Given the description of an element on the screen output the (x, y) to click on. 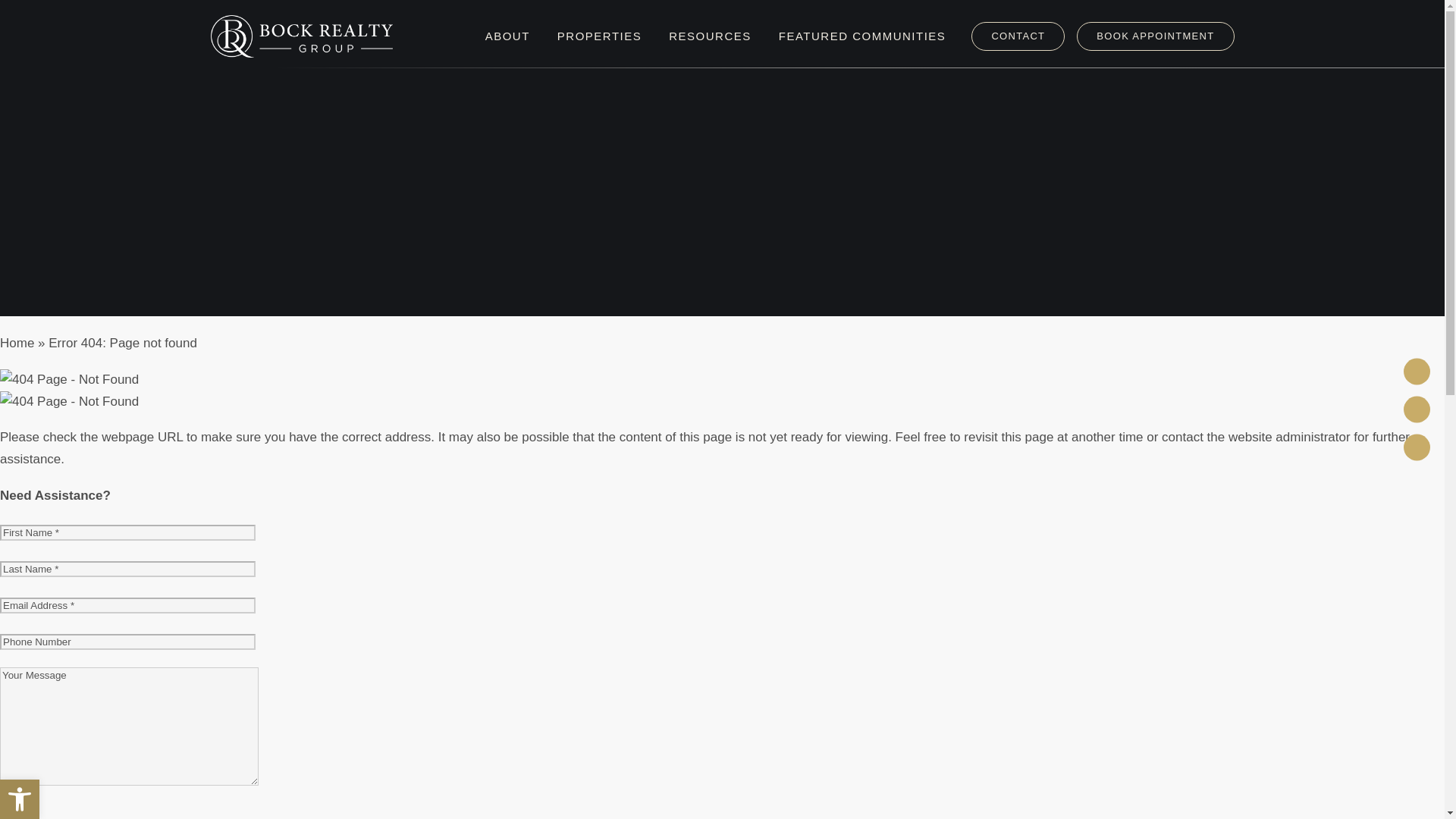
Accessibility Tools (19, 799)
Send (17, 816)
ABOUT (507, 36)
Accessibility Tools (19, 799)
